Given the description of an element on the screen output the (x, y) to click on. 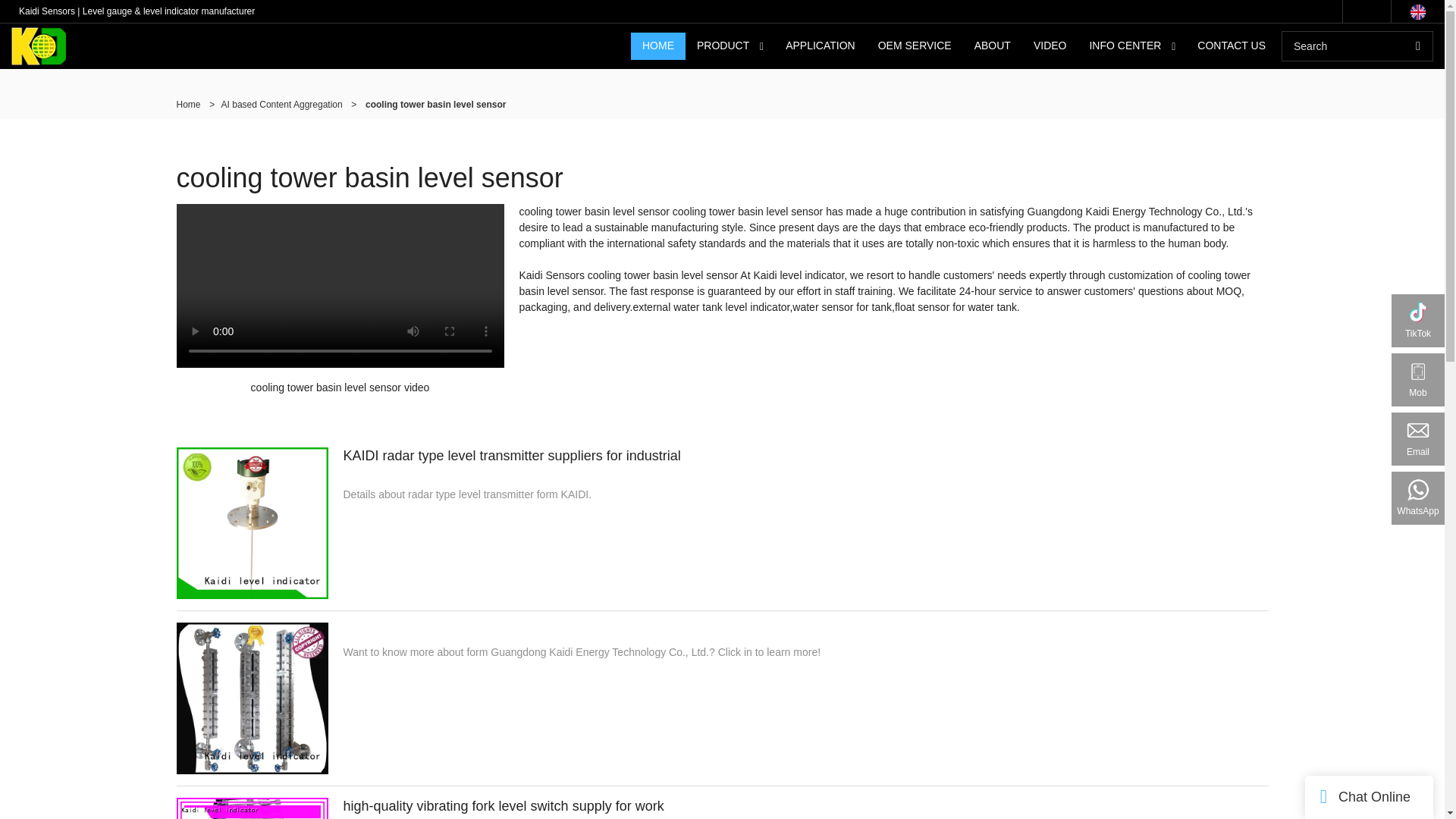
CONTACT US (1231, 45)
APPLICATION (820, 45)
PRODUCT (722, 45)
Home (188, 104)
HOME (657, 45)
INFO CENTER (1124, 45)
VIDEO (1050, 45)
ABOUT (992, 45)
OEM SERVICE (914, 45)
